Given the description of an element on the screen output the (x, y) to click on. 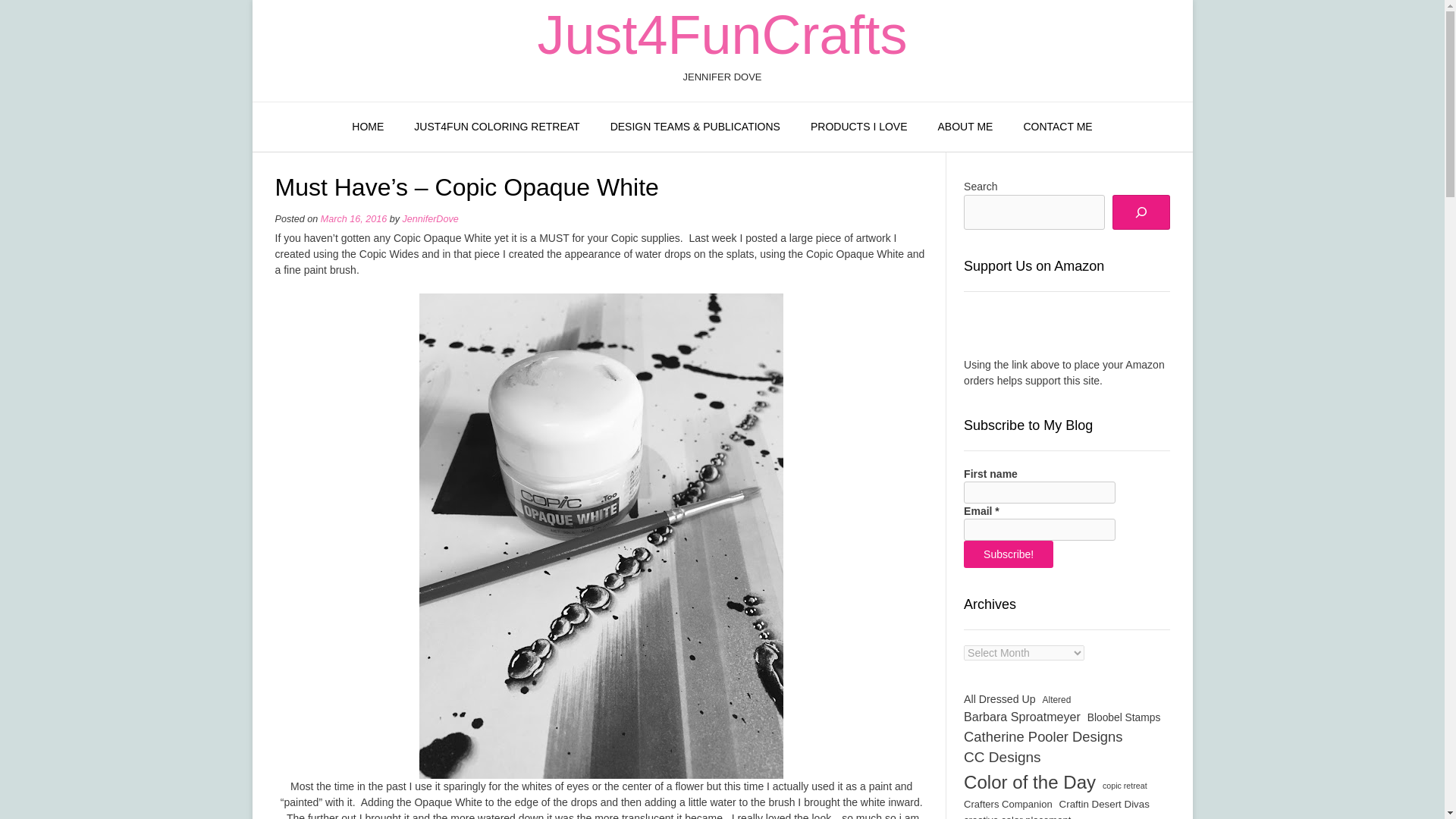
HOME (367, 127)
JUST4FUN COLORING RETREAT (496, 127)
ABOUT ME (966, 127)
Altered (1056, 700)
Bloobel Stamps (1123, 718)
CONTACT ME (1056, 127)
Email (1039, 529)
First name (1039, 492)
JenniferDove (430, 218)
Just4FunCrafts (722, 34)
